Given the description of an element on the screen output the (x, y) to click on. 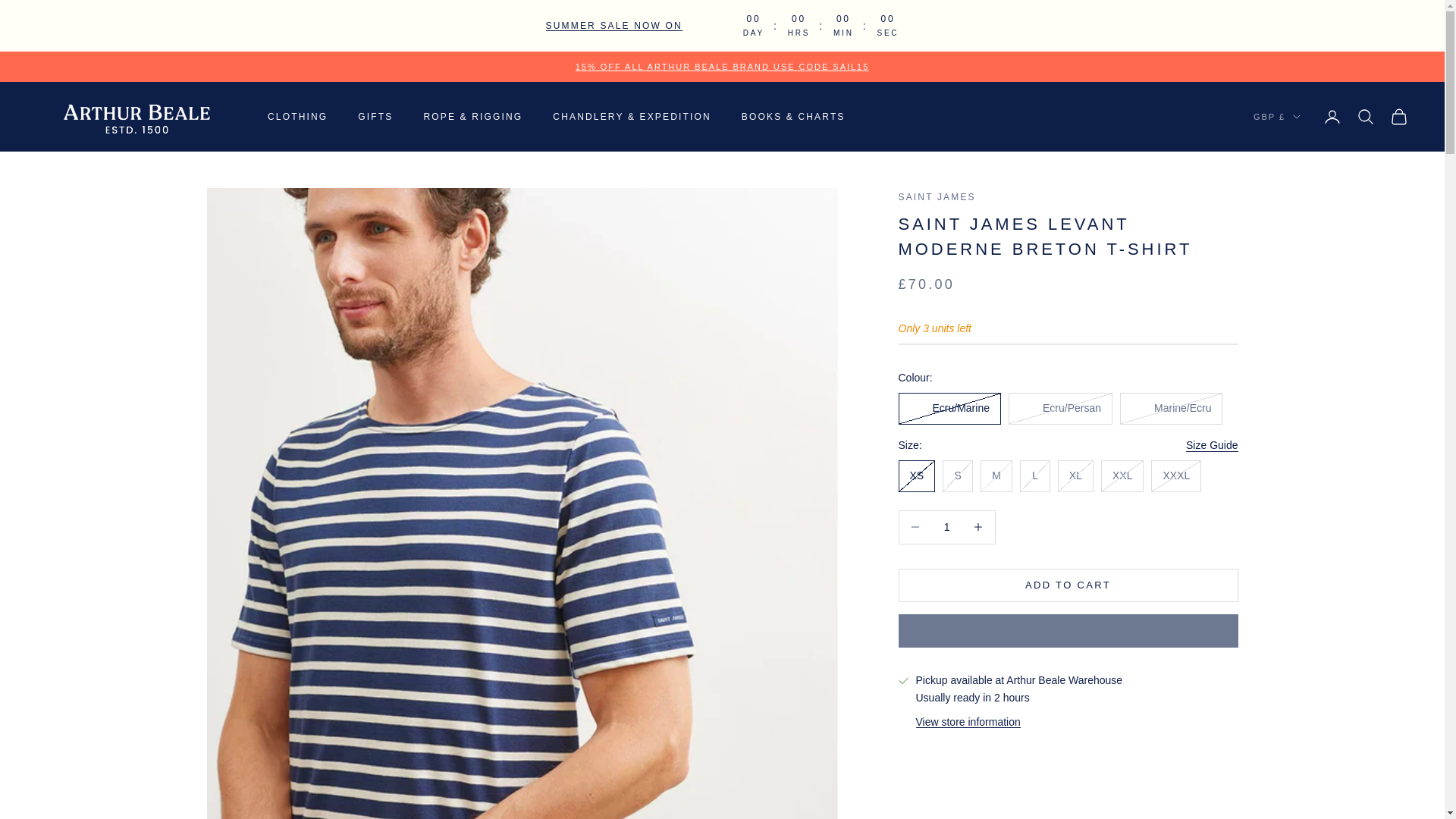
Arthur Beale (722, 66)
1 (946, 527)
Arthur Beale (136, 117)
SUMMER SALE NOW ON (614, 25)
Summer Sale (614, 25)
